Given the description of an element on the screen output the (x, y) to click on. 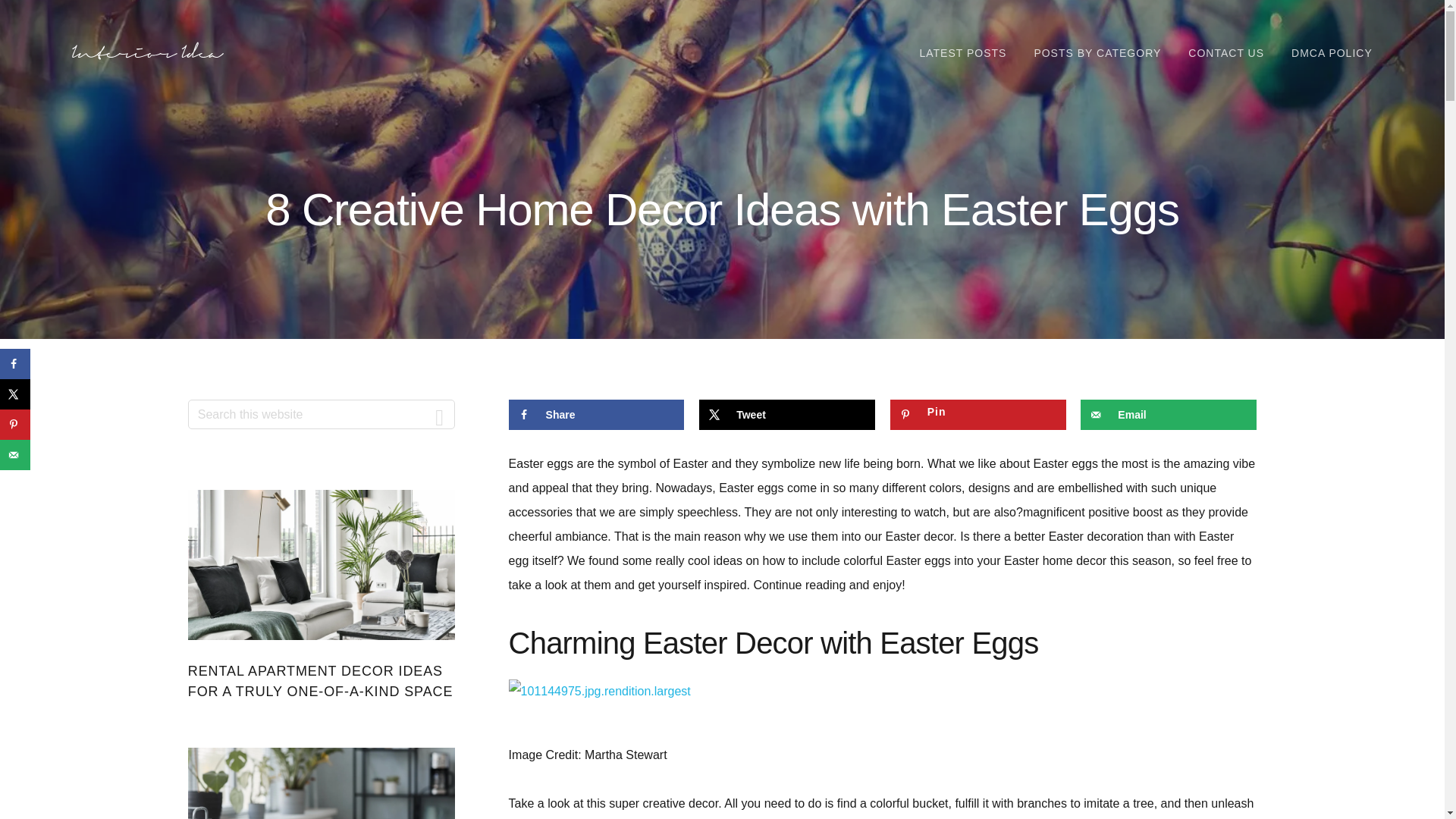
Interior Idea (147, 50)
POSTS BY CATEGORY (1096, 53)
LATEST POSTS (962, 53)
Send over email (1168, 414)
Email (1168, 414)
Share on Facebook (596, 414)
Share on X (15, 394)
Tweet (786, 414)
Pin (977, 414)
Send over email (15, 454)
